Given the description of an element on the screen output the (x, y) to click on. 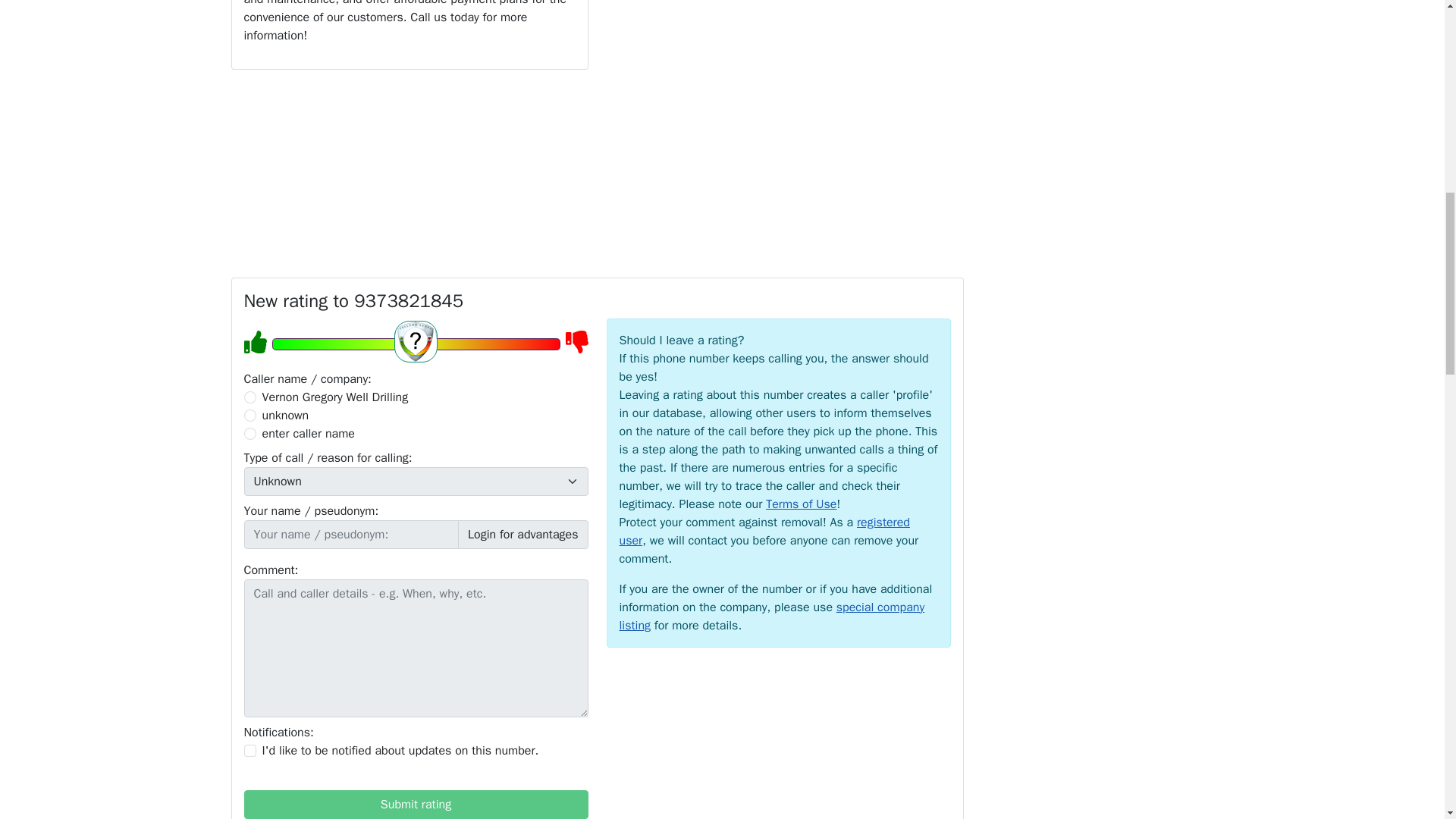
0 (250, 397)
3 (250, 433)
Login for advantages (523, 534)
1 (250, 750)
Submit rating (416, 804)
Submit rating (416, 804)
2 (250, 415)
special company listing (771, 616)
registered user (763, 531)
Terms of Use (800, 503)
5 (414, 343)
